Given the description of an element on the screen output the (x, y) to click on. 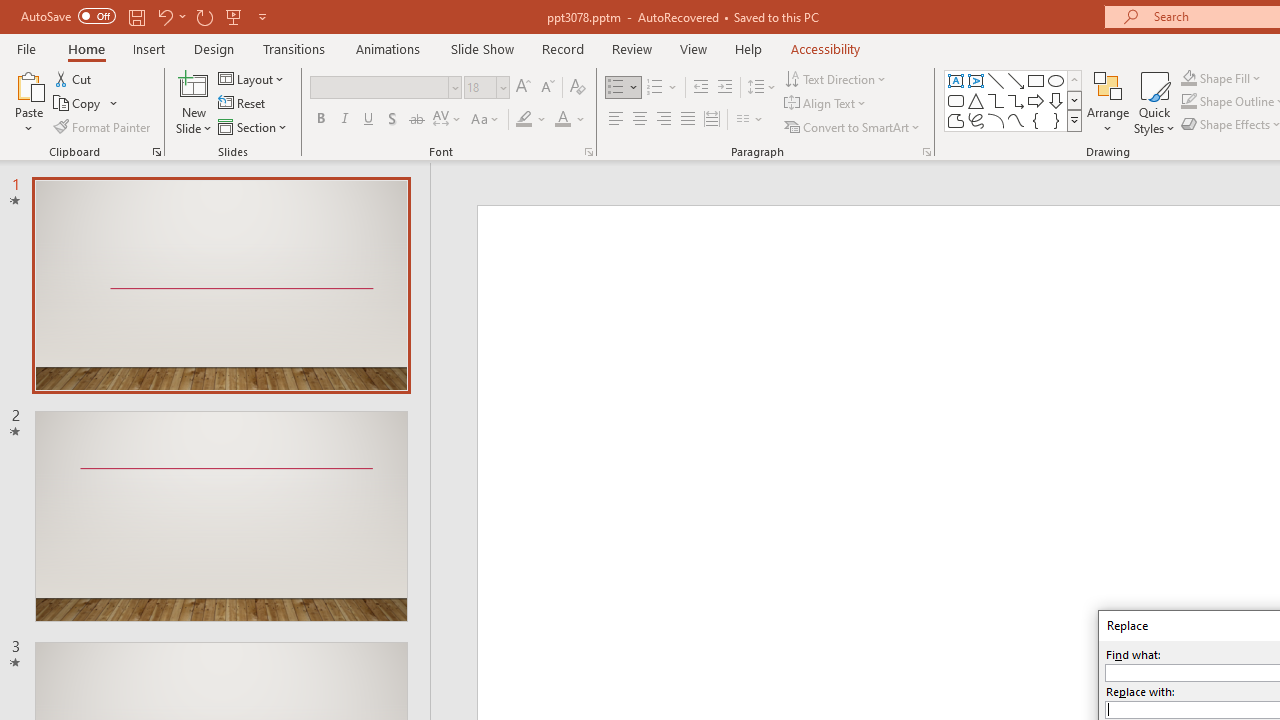
Bold (320, 119)
New Slide (193, 84)
Text Direction (836, 78)
Bullets (616, 87)
Class: NetUIImage (1075, 120)
Align Left (616, 119)
Shape Fill Dark Green, Accent 2 (1188, 78)
Paste (28, 102)
Arc (995, 120)
Shape Outline Green, Accent 1 (1188, 101)
Decrease Indent (700, 87)
Bullets (623, 87)
